Given the description of an element on the screen output the (x, y) to click on. 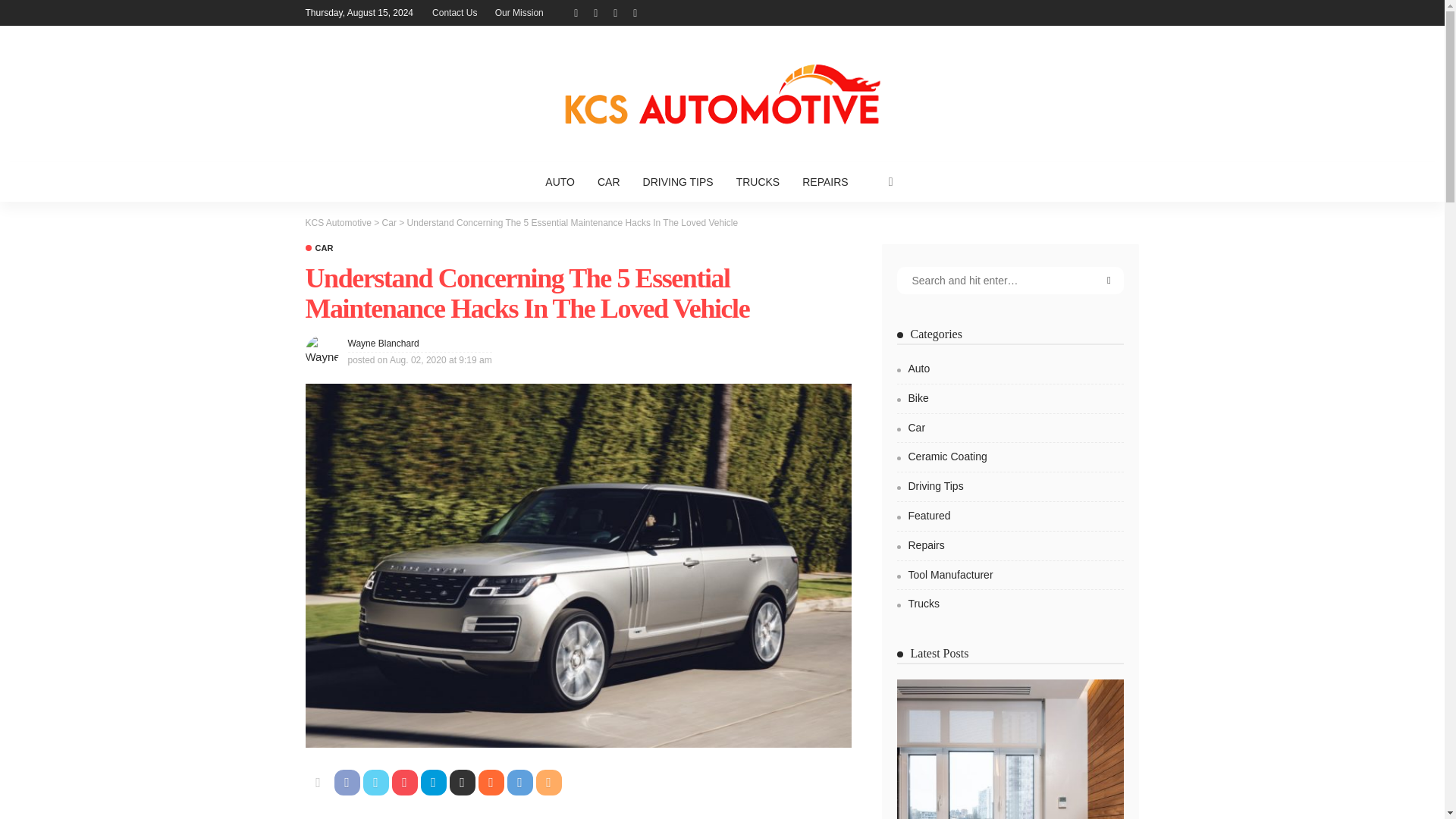
REPAIRS (824, 181)
DRIVING TIPS (678, 181)
CAR (608, 181)
Go to KCS Automotive. (337, 222)
Our Mission (519, 12)
TRUCKS (758, 181)
CAR (318, 248)
Car (388, 222)
AUTO (560, 181)
search (890, 181)
